Given the description of an element on the screen output the (x, y) to click on. 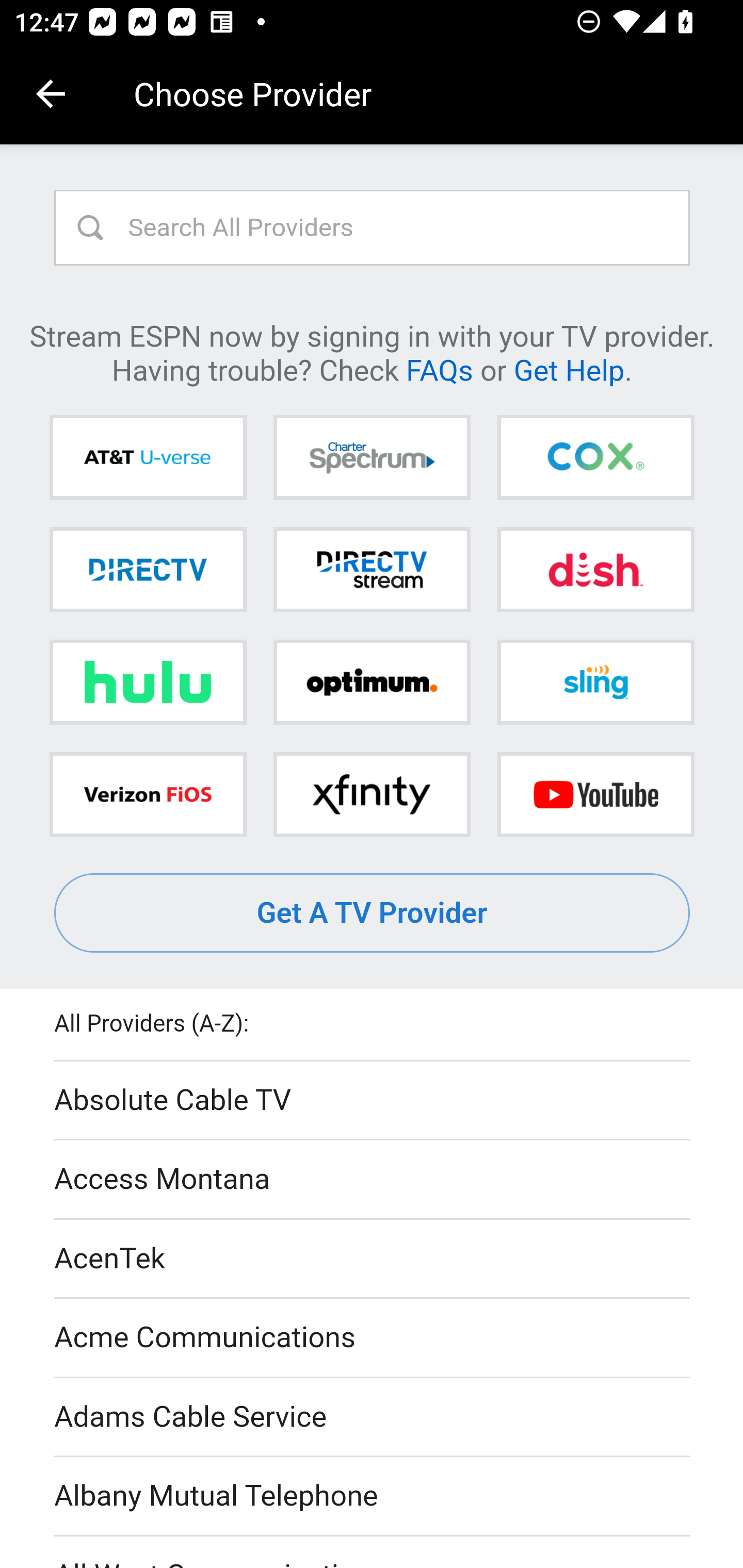
Navigate up (50, 93)
FAQs (438, 369)
Get Help (569, 369)
AT&T U-verse (147, 457)
Charter Spectrum (371, 457)
Cox (595, 457)
DIRECTV (147, 568)
DIRECTV STREAM (371, 568)
DISH (595, 568)
Hulu (147, 681)
Optimum (371, 681)
Sling TV (595, 681)
Verizon FiOS (147, 793)
Xfinity (371, 793)
YouTube TV (595, 793)
Get A TV Provider (372, 912)
Absolute Cable TV (372, 1100)
Access Montana (372, 1178)
AcenTek (372, 1258)
Acme Communications (372, 1338)
Adams Cable Service (372, 1417)
Albany Mutual Telephone (372, 1497)
